Given the description of an element on the screen output the (x, y) to click on. 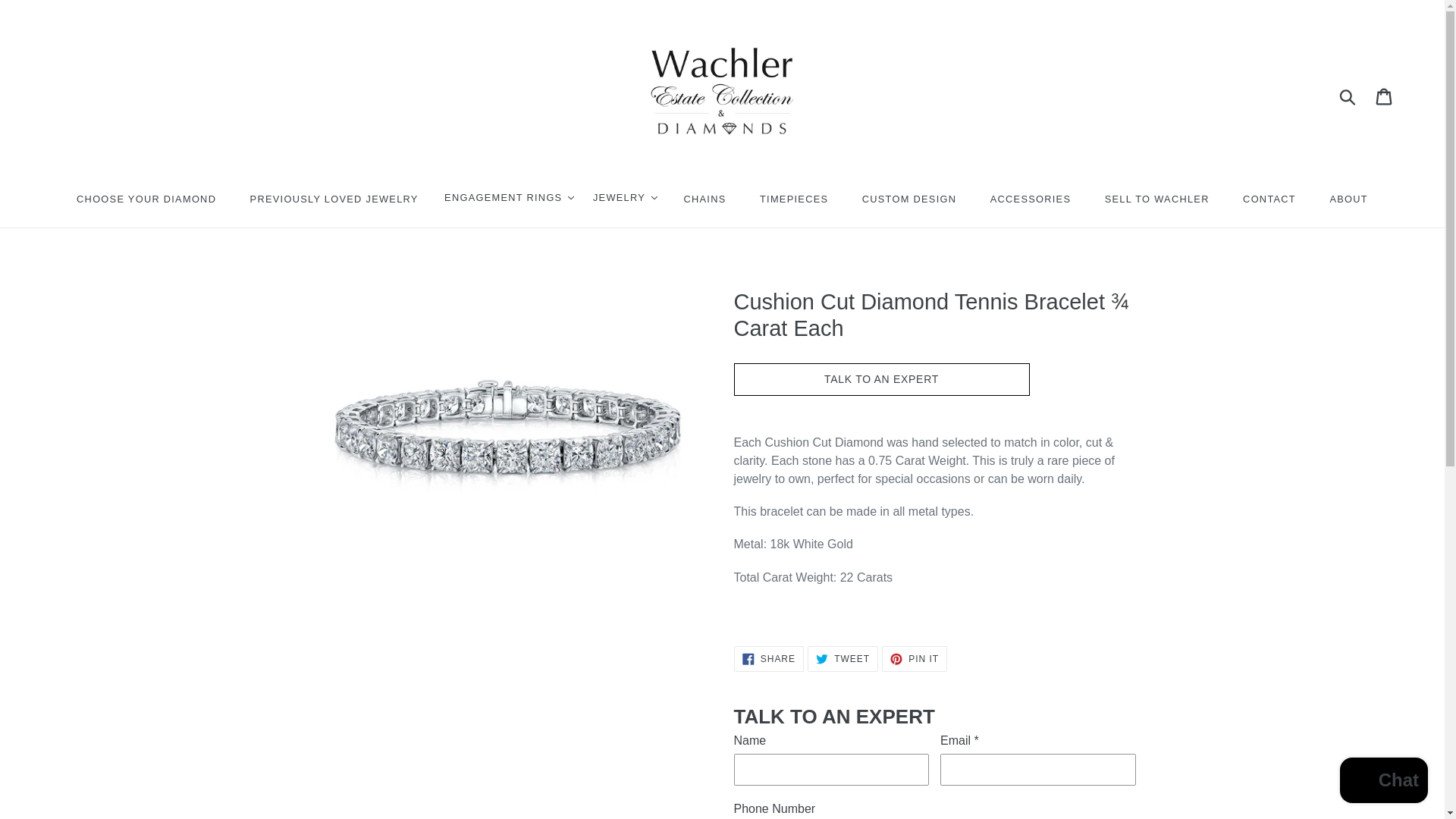
CHOOSE YOUR DIAMOND (146, 198)
Shopify online store chat (1383, 781)
Submit (1348, 95)
Cart (1385, 95)
PREVIOUSLY LOVED JEWELRY (333, 198)
